Given the description of an element on the screen output the (x, y) to click on. 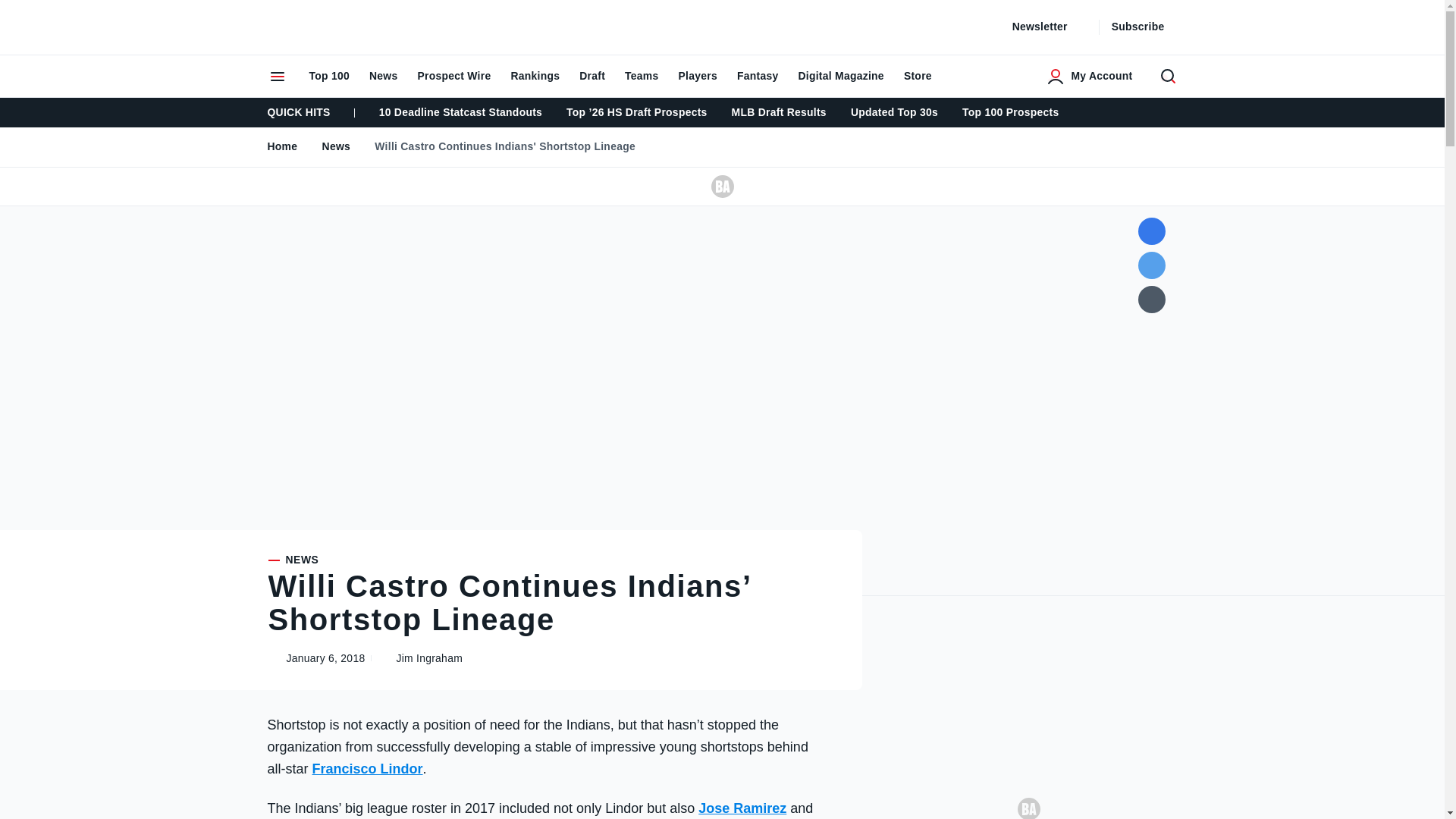
Fantasy (757, 76)
Draft (591, 76)
Jose Ramirez (742, 807)
Top 100 (328, 76)
News (326, 146)
Store (917, 76)
Digital Magazine (840, 76)
10 Deadline Statcast Standouts (460, 112)
Post category (551, 559)
MLB Draft Results (778, 112)
Subscribe (1147, 26)
News (383, 76)
Share on Twitter (1150, 265)
Prospect Wire (453, 76)
Newsletter (1048, 26)
